Given the description of an element on the screen output the (x, y) to click on. 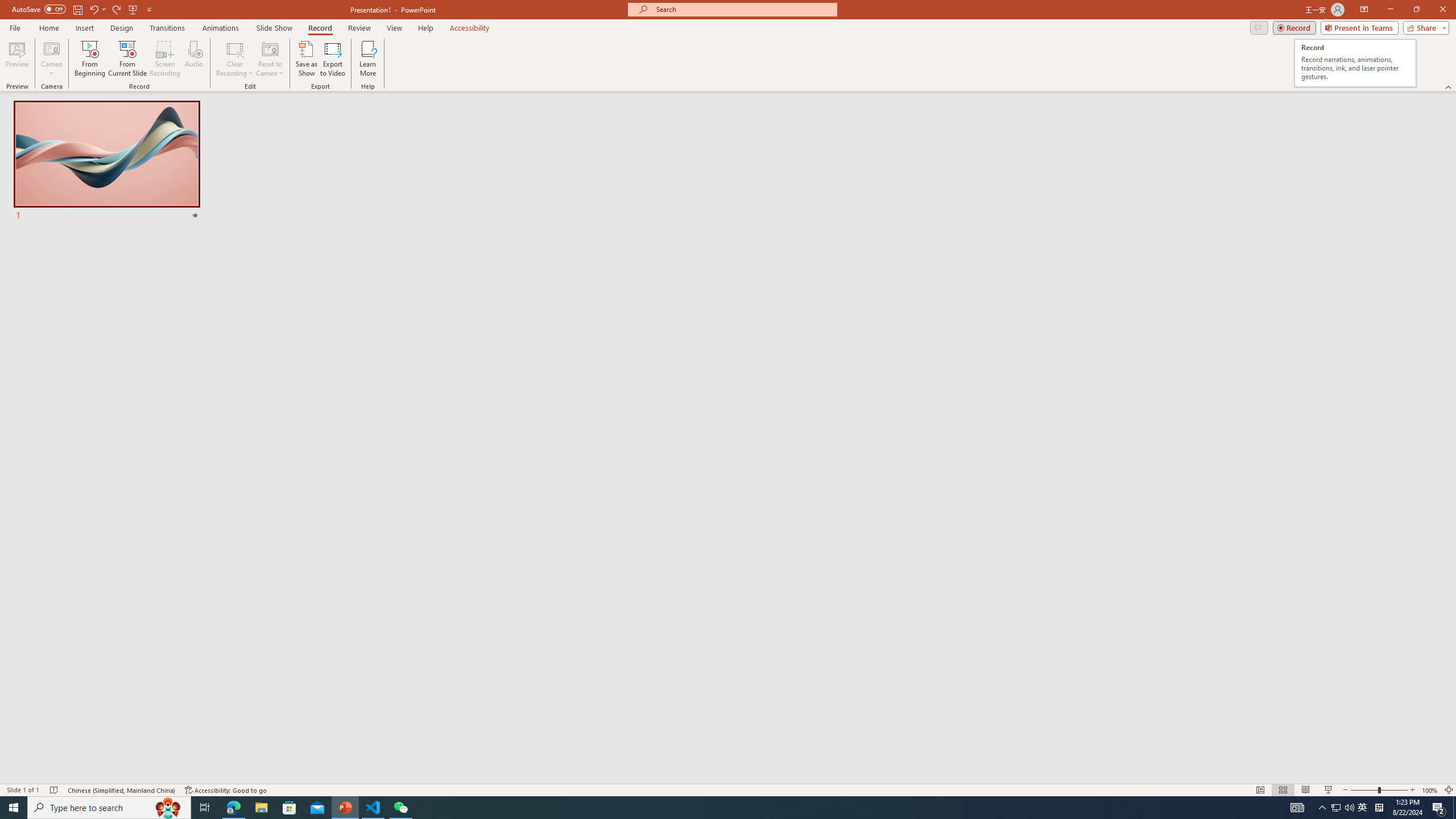
Accessibility Checker Accessibility: Good to go (226, 790)
Learn More (368, 58)
Zoom 100% (1430, 790)
Save as Show (306, 58)
